Given the description of an element on the screen output the (x, y) to click on. 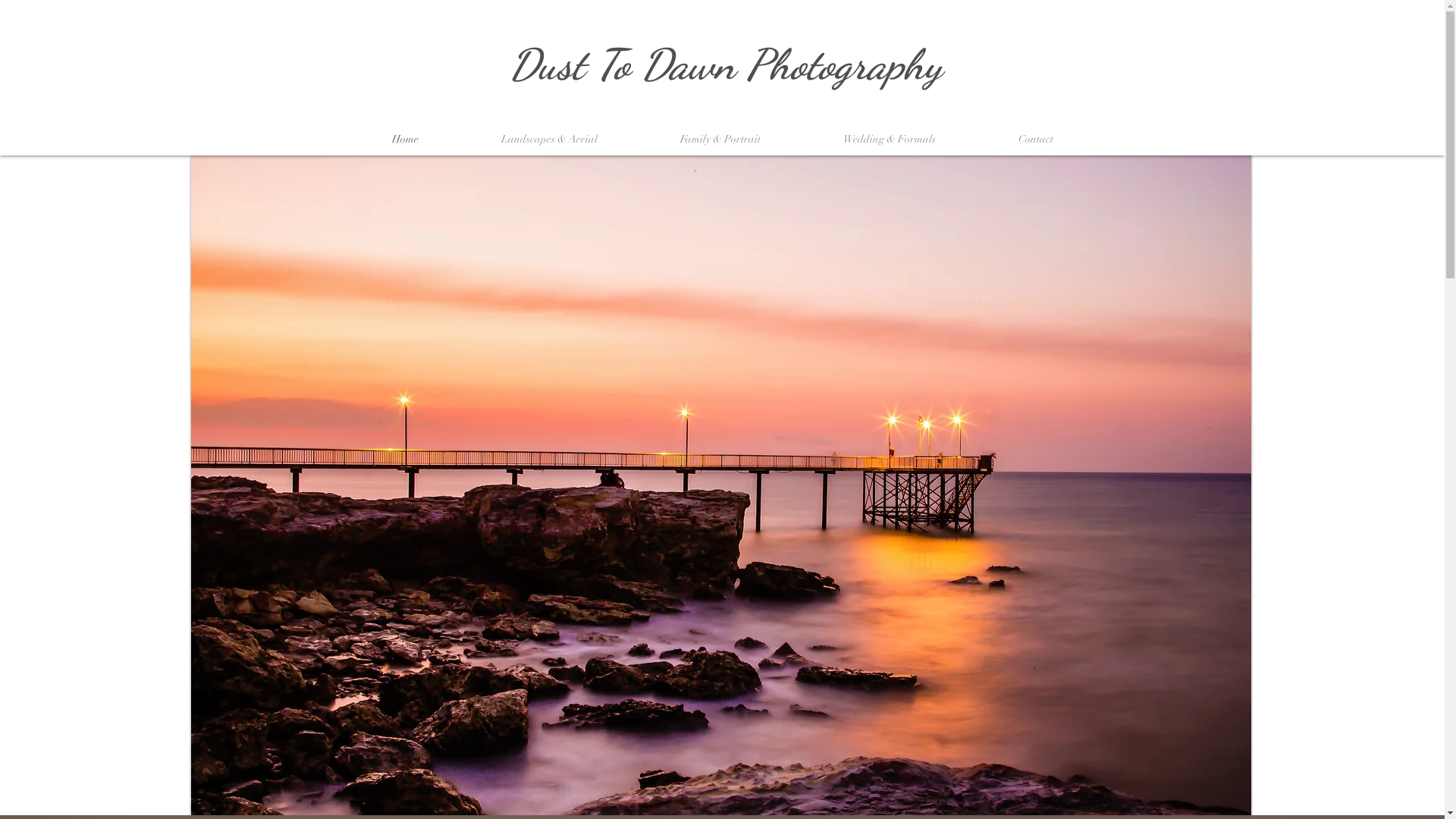
Landscapes & Aerial Element type: text (548, 139)
Home Element type: text (404, 139)
Family & Portrait Element type: text (719, 139)
Wedding & Formals Element type: text (889, 139)
Contact Element type: text (1034, 139)
